Given the description of an element on the screen output the (x, y) to click on. 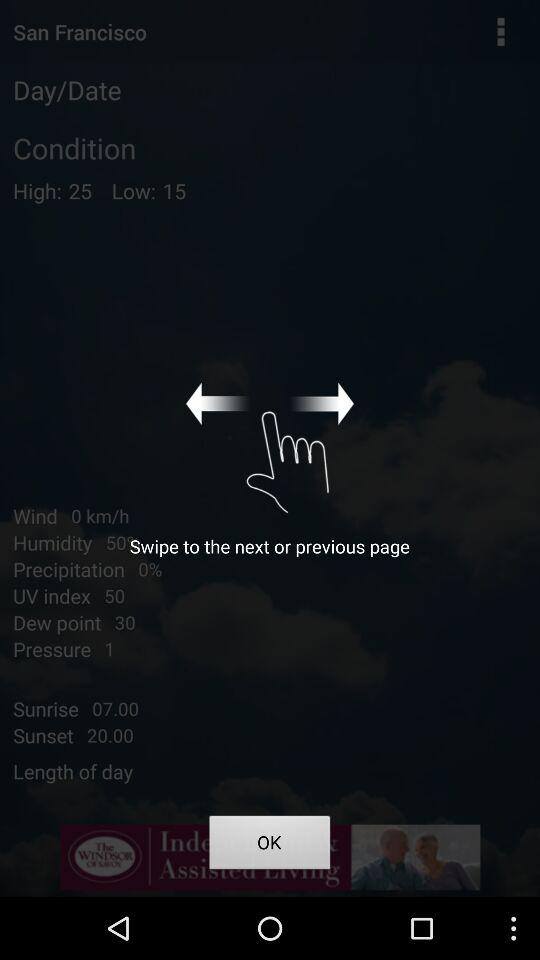
tap the ok icon (269, 845)
